Given the description of an element on the screen output the (x, y) to click on. 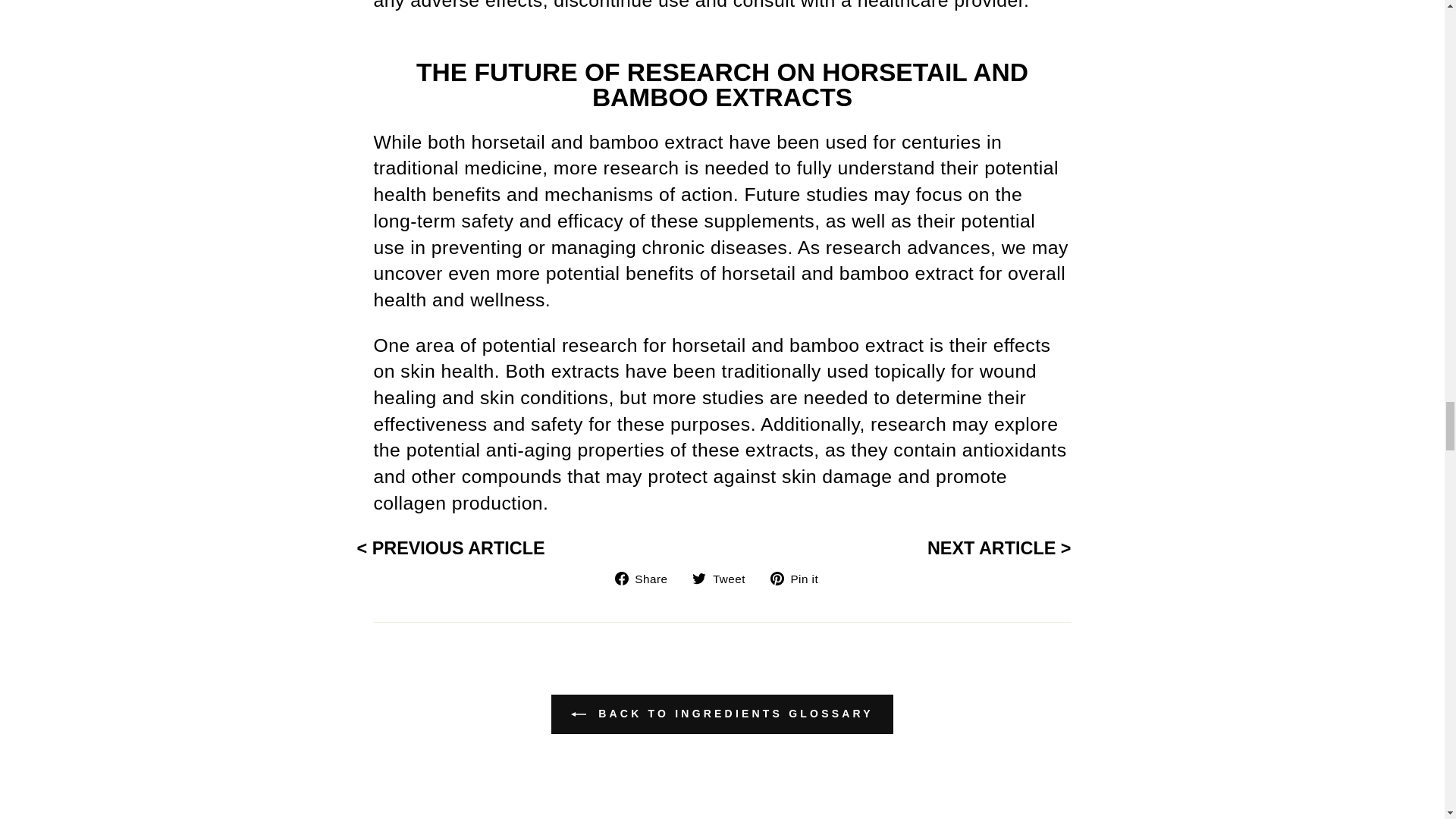
Pin on Pinterest (799, 578)
Share on Facebook (646, 578)
Tweet on Twitter (725, 578)
